Given the description of an element on the screen output the (x, y) to click on. 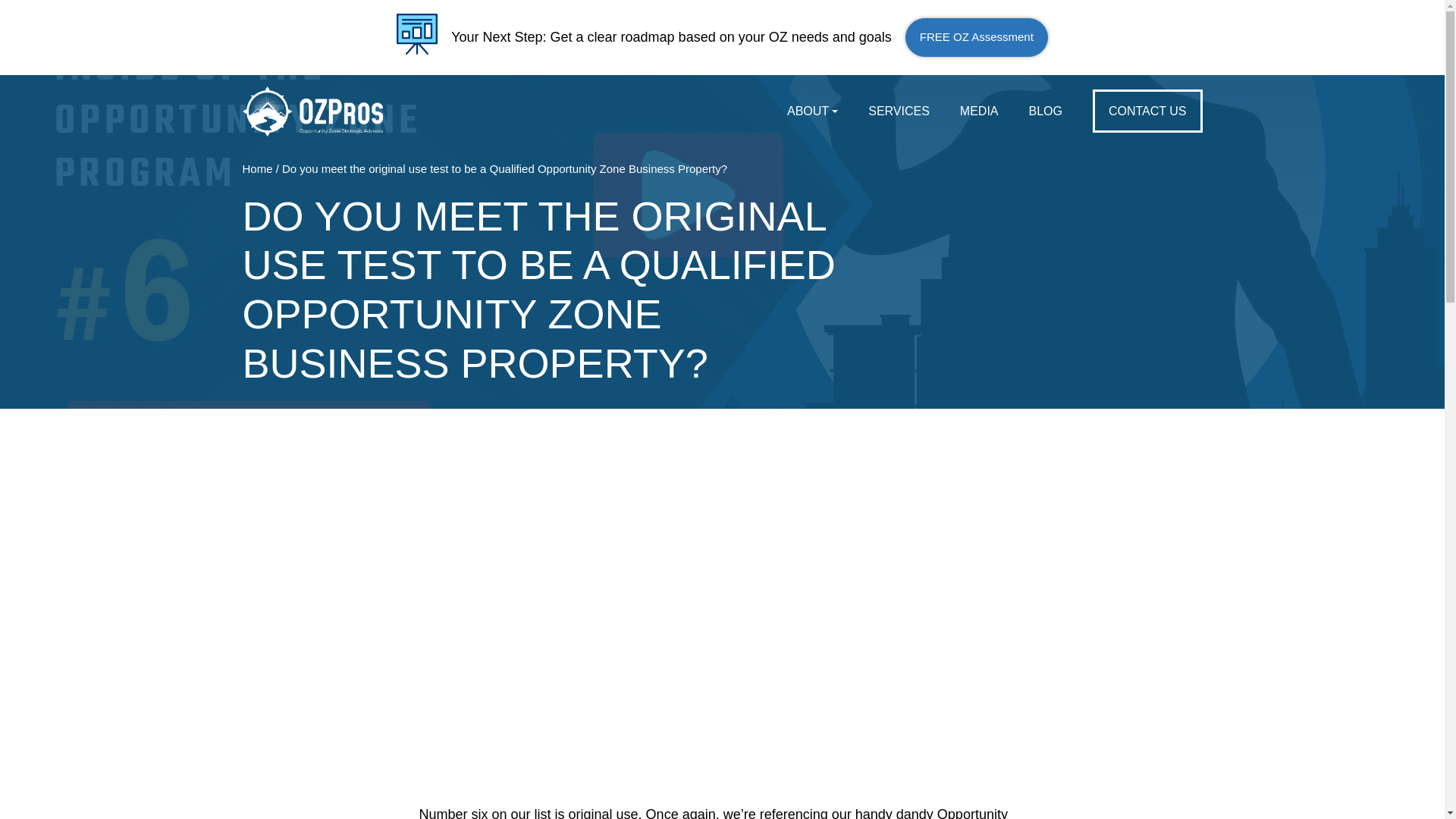
Media (978, 110)
Services (898, 110)
Contact Us (1147, 110)
CONTACT US (1147, 110)
Home (258, 168)
MEDIA (978, 110)
ABOUT (812, 110)
BLOG (1045, 110)
Blog (1045, 110)
About (812, 110)
SERVICES (898, 110)
FREE OZ Assessment (976, 37)
